Given the description of an element on the screen output the (x, y) to click on. 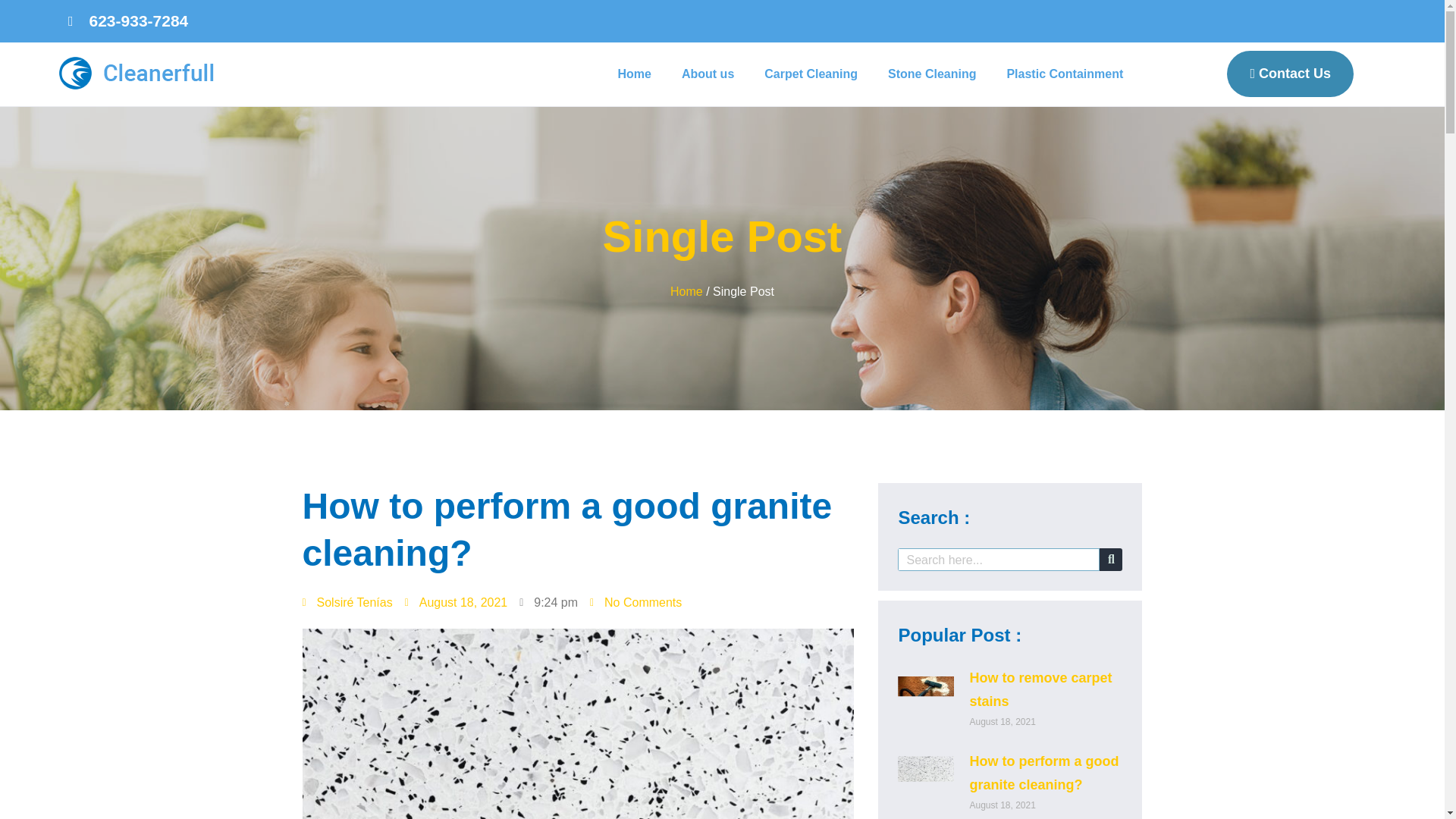
Stone Cleaning (931, 73)
How to perform a good granite cleaning? (1043, 772)
Contact Us (1290, 73)
About us (707, 73)
August 18, 2021 (456, 602)
Home (686, 291)
How to remove carpet stains (1040, 689)
Carpet Cleaning (810, 73)
623-933-7284 (127, 21)
Plastic Containment (1064, 73)
